Given the description of an element on the screen output the (x, y) to click on. 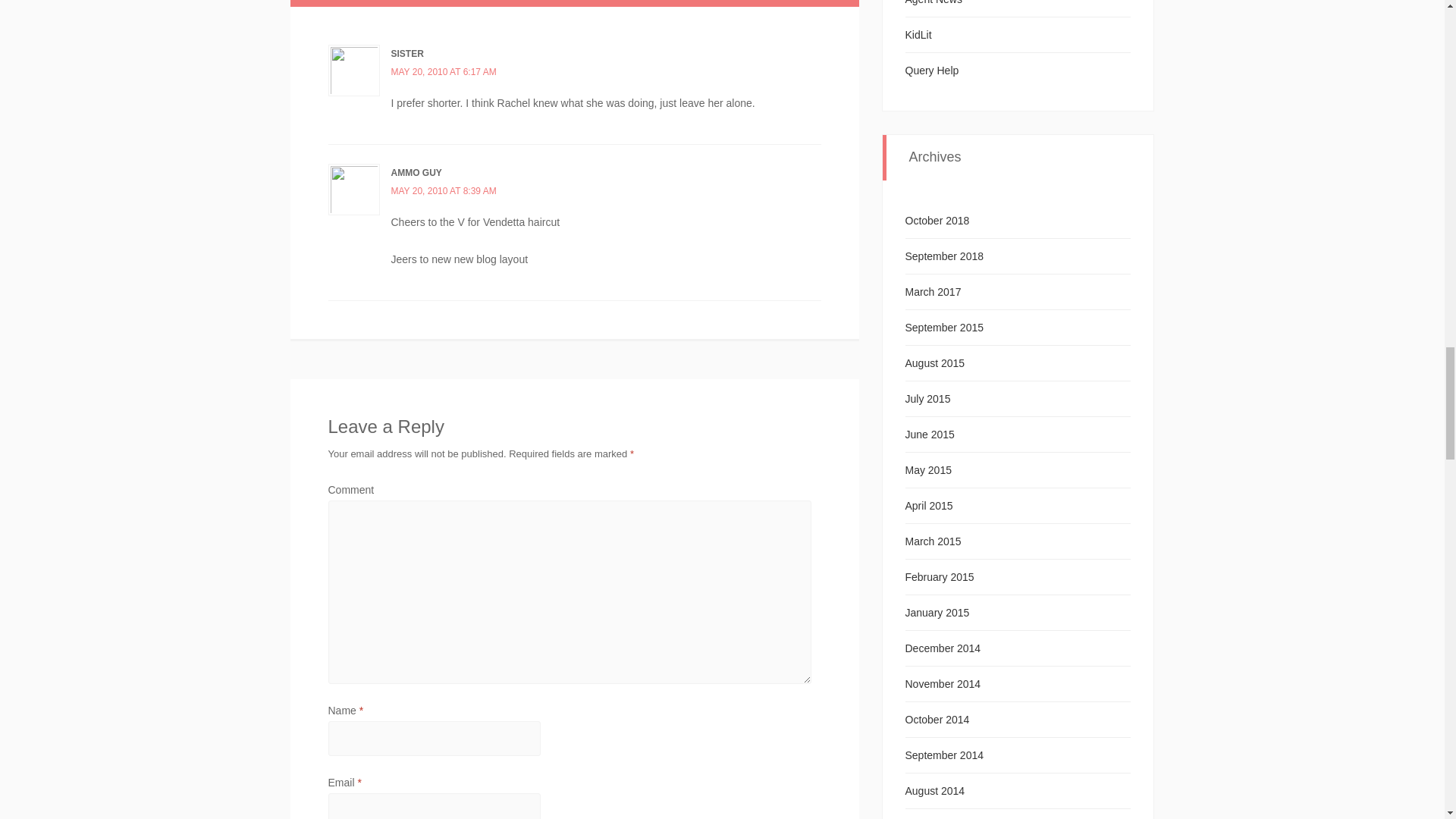
September 2018 (944, 256)
MAY 20, 2010 AT 6:17 AM (443, 71)
Agent News (933, 2)
MAY 20, 2010 AT 8:39 AM (443, 190)
See examples get skewered. (932, 70)
October 2018 (937, 220)
KidLit (918, 34)
March 2017 (932, 291)
Query Help (932, 70)
